Given the description of an element on the screen output the (x, y) to click on. 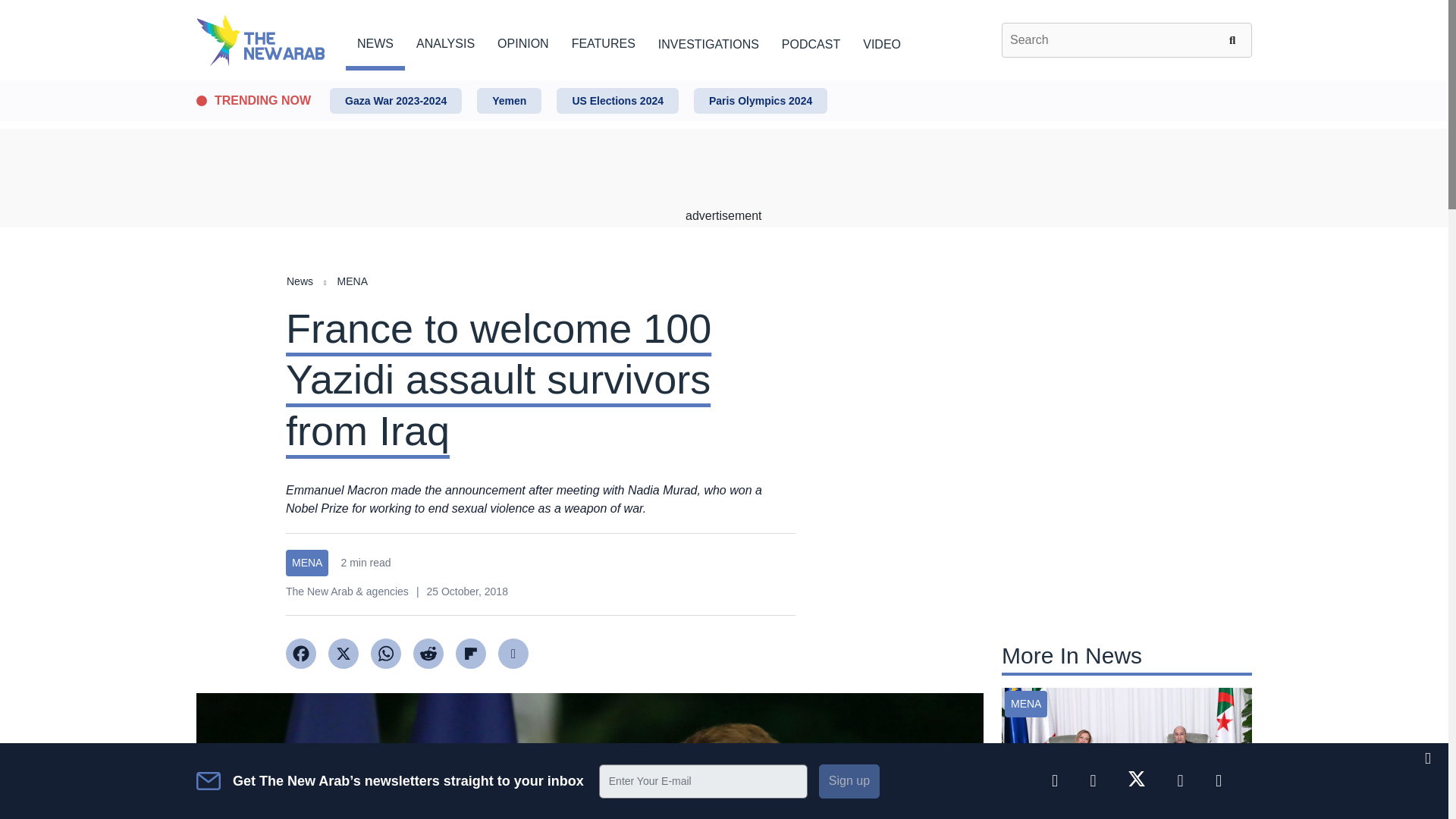
Search (1234, 39)
Skip to main content (724, 81)
NEWS (375, 41)
ANALYSIS (445, 41)
OPINION (523, 41)
